Given the description of an element on the screen output the (x, y) to click on. 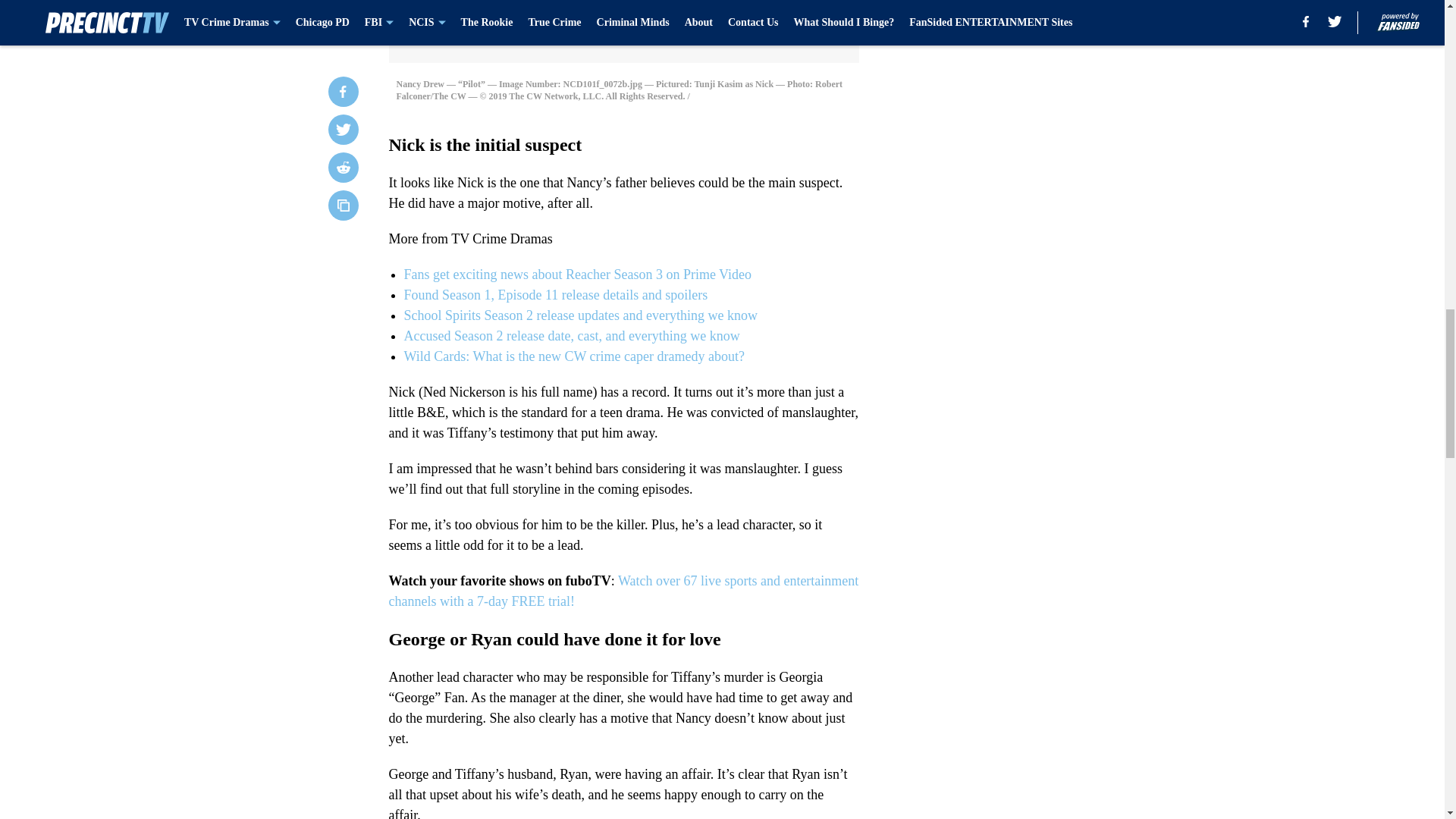
Found Season 1, Episode 11 release details and spoilers (555, 294)
Wild Cards: What is the new CW crime caper dramedy about? (573, 355)
Fans get exciting news about Reacher Season 3 on Prime Video (577, 273)
Accused Season 2 release date, cast, and everything we know (571, 335)
